Given the description of an element on the screen output the (x, y) to click on. 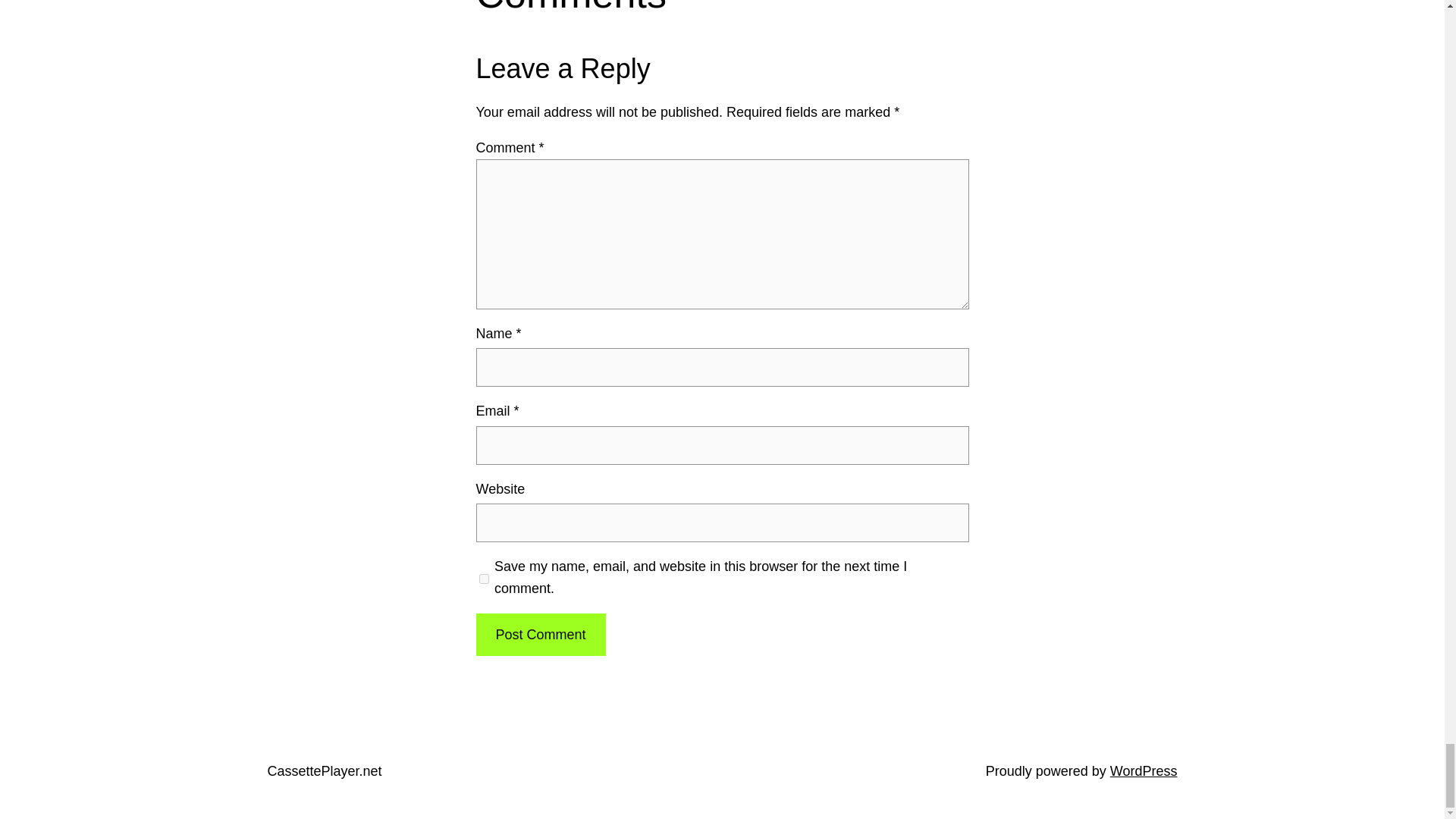
WordPress (1143, 770)
Post Comment (540, 634)
Post Comment (540, 634)
CassettePlayer.net (323, 770)
